Given the description of an element on the screen output the (x, y) to click on. 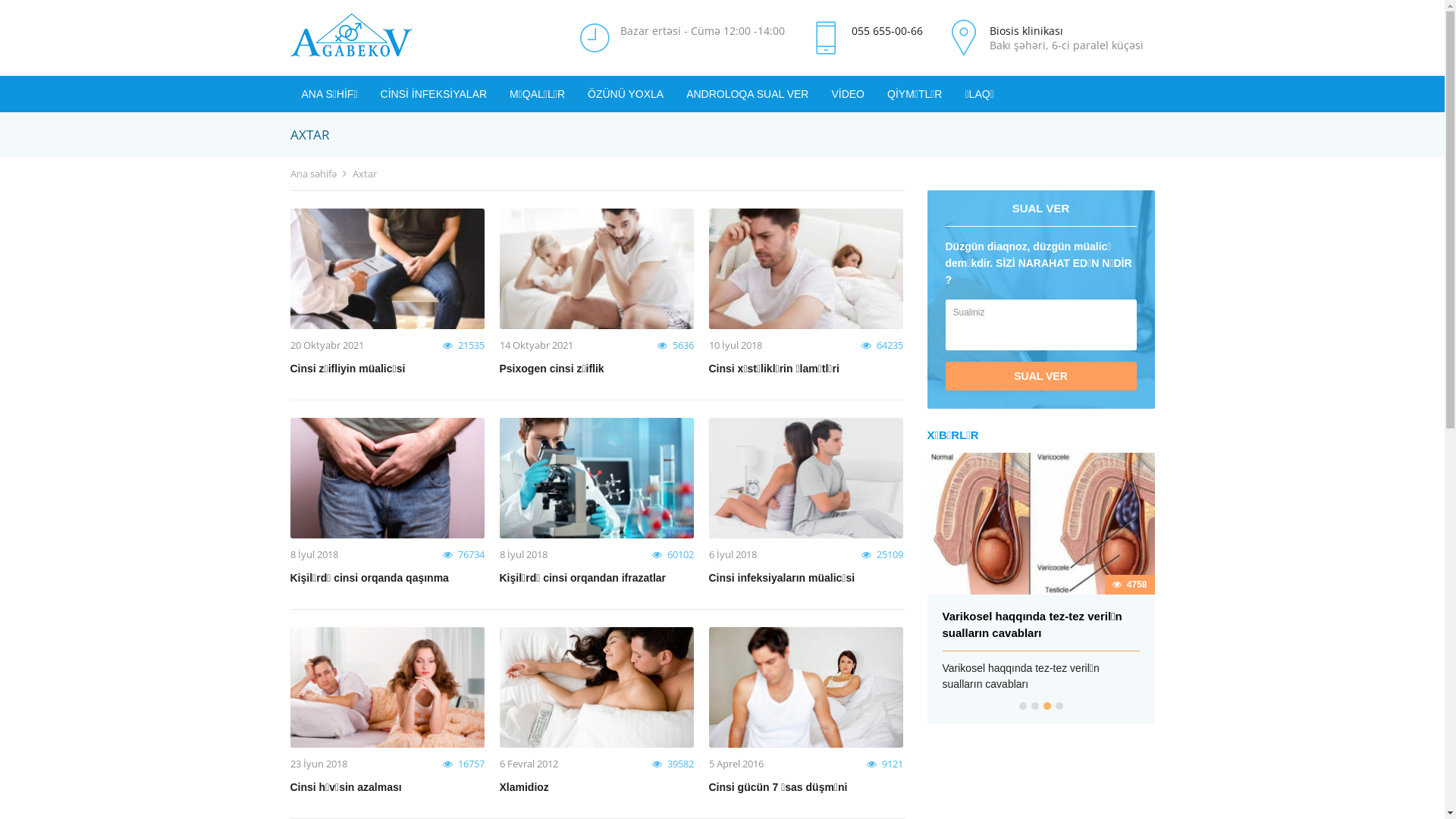
055 655-00-66 Element type: text (886, 30)
ANDROLOQA SUAL VER Element type: text (746, 93)
